Given the description of an element on the screen output the (x, y) to click on. 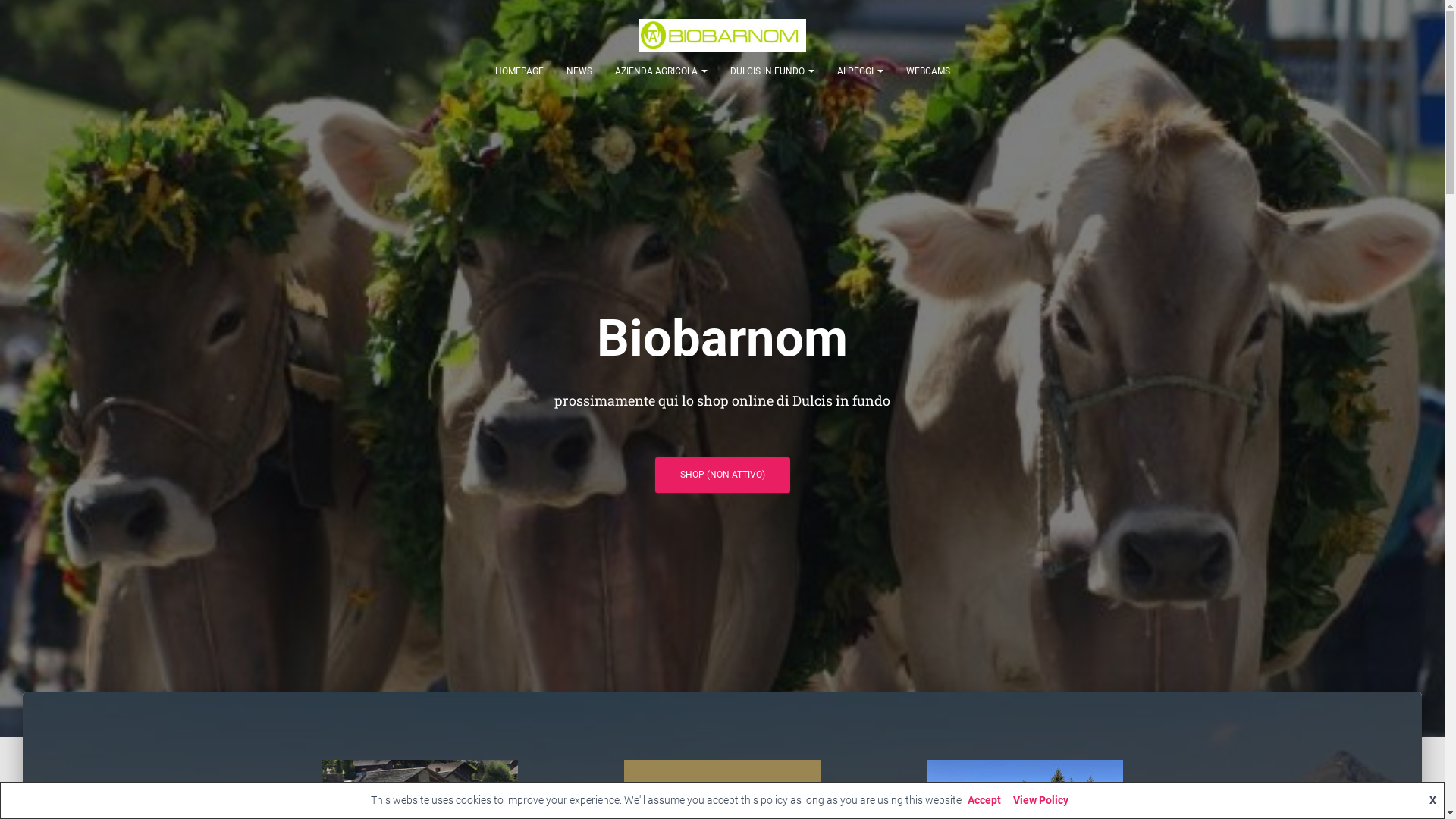
NEWS Element type: text (579, 71)
Biobarnom Element type: hover (722, 35)
Accept Element type: text (984, 799)
ALPEGGI Element type: text (859, 71)
View Policy Element type: text (1040, 799)
AZIENDA AGRICOLA Element type: text (660, 71)
WEBCAMS Element type: text (927, 71)
SHOP (NON ATTIVO) Element type: text (722, 474)
DULCIS IN FUNDO Element type: text (771, 71)
HOMEPAGE Element type: text (519, 71)
